Given the description of an element on the screen output the (x, y) to click on. 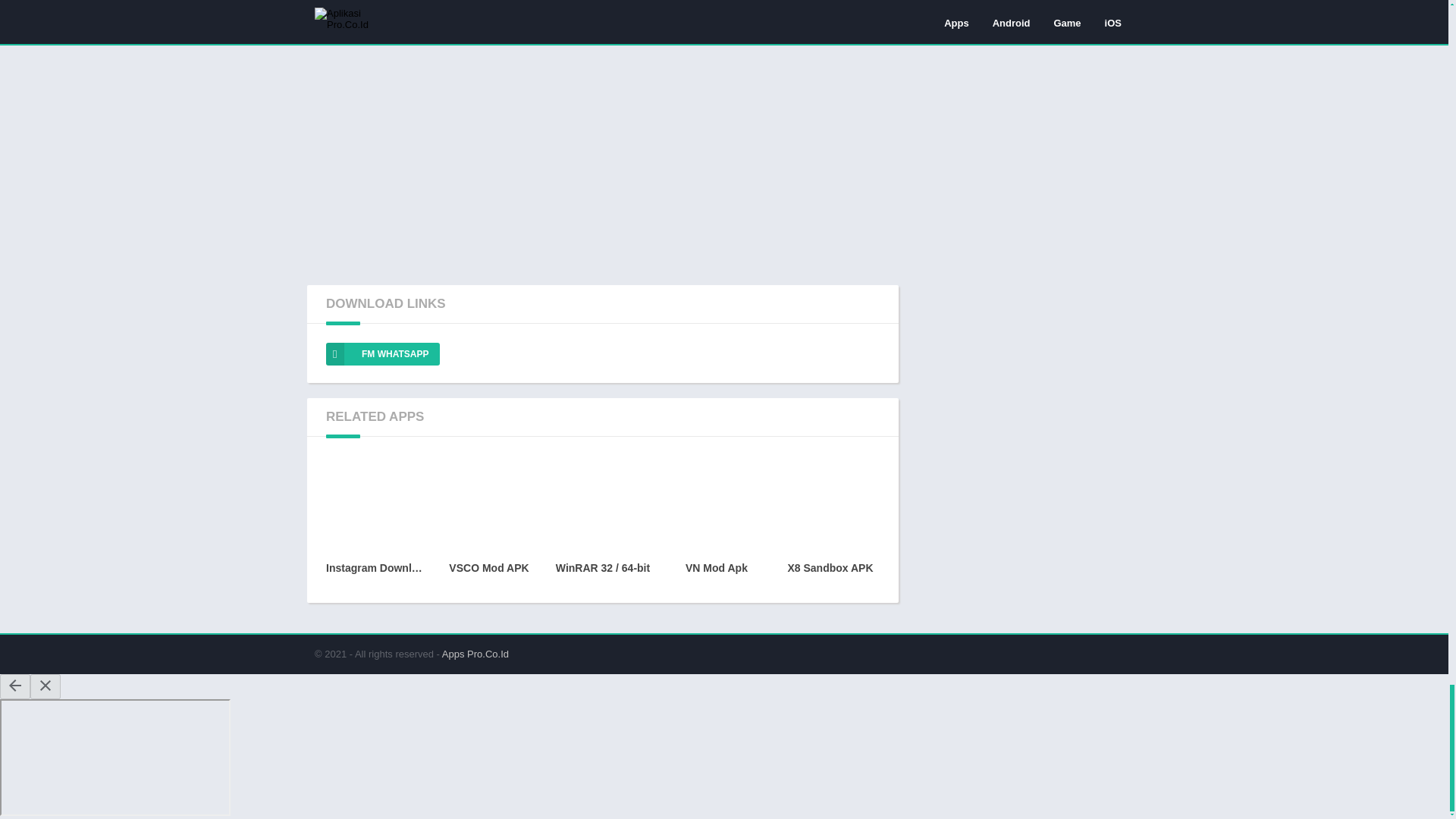
FM WHATSAPP (382, 354)
